Given the description of an element on the screen output the (x, y) to click on. 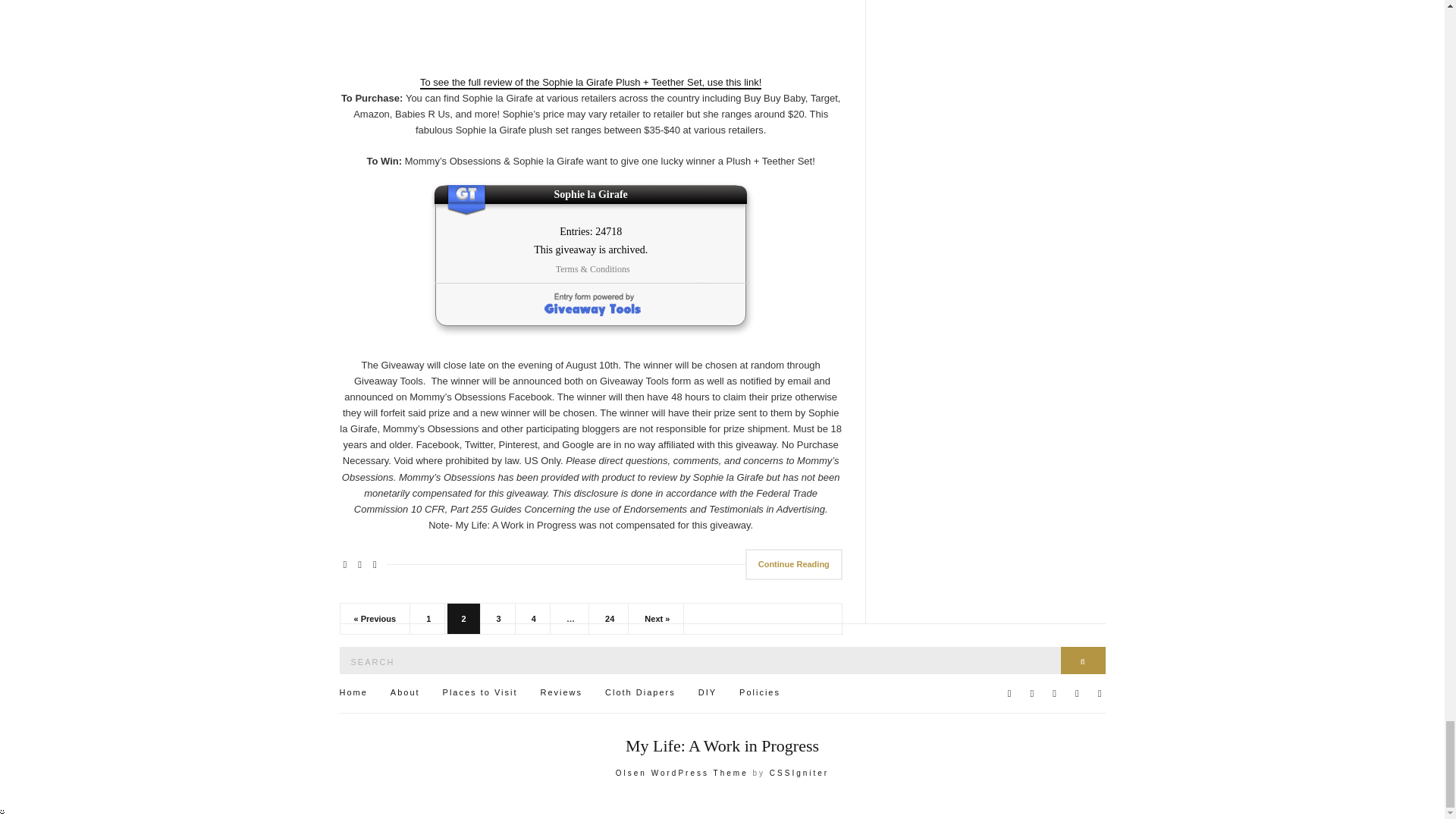
Blogging theme for WordPress (681, 773)
